Given the description of an element on the screen output the (x, y) to click on. 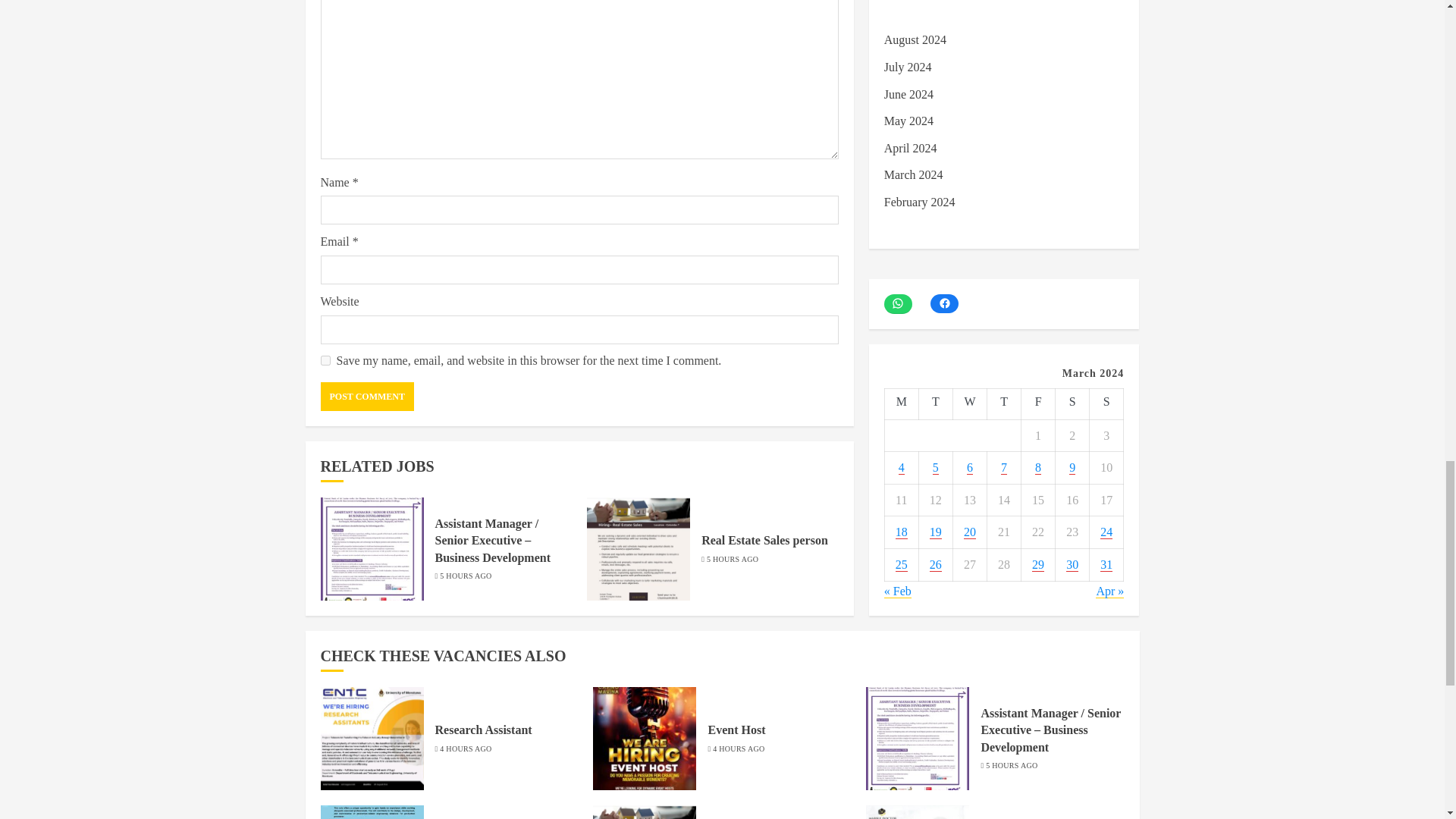
yes (325, 360)
Post Comment (366, 396)
